Given the description of an element on the screen output the (x, y) to click on. 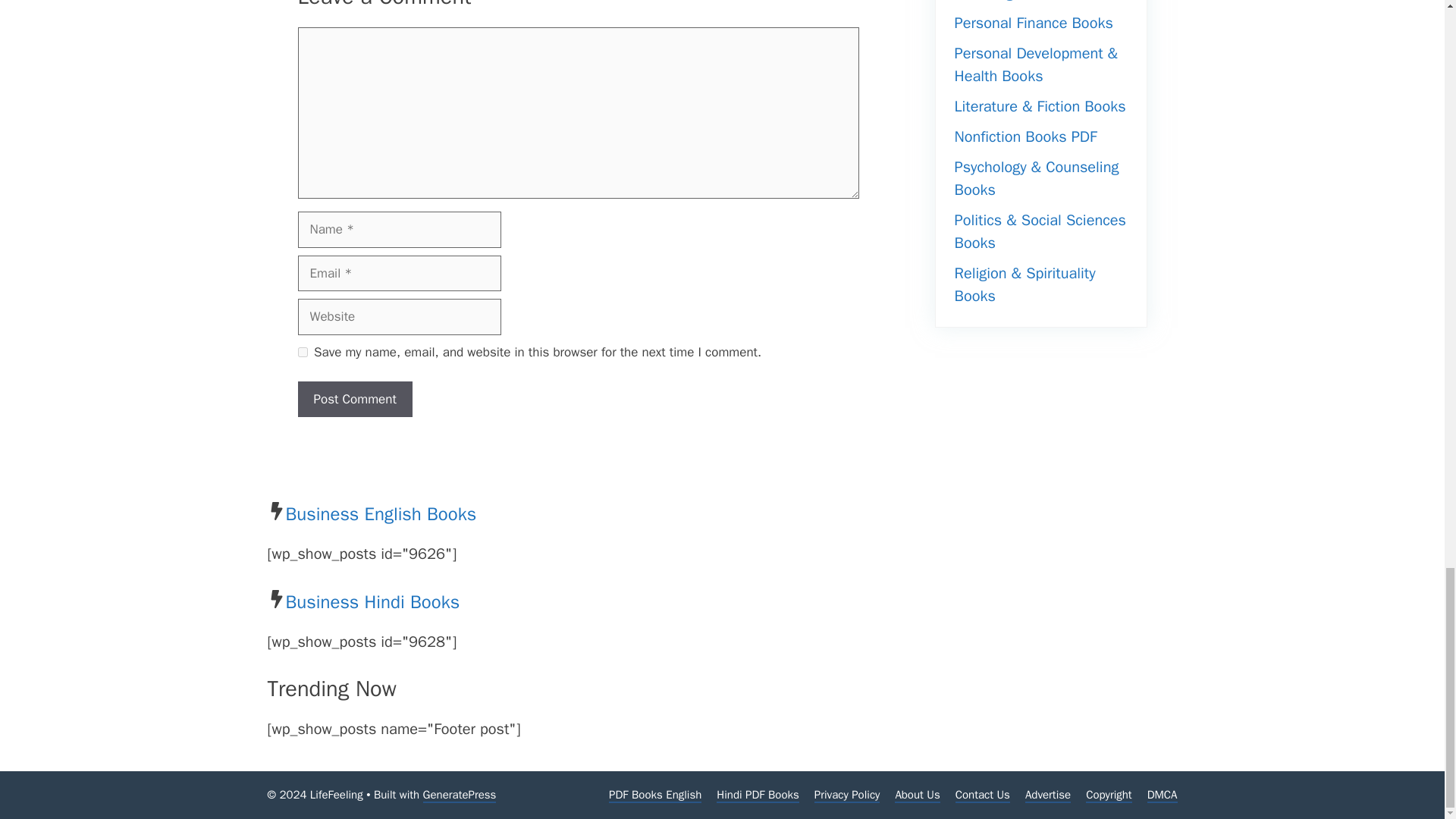
Post Comment (354, 399)
yes (302, 352)
Post Comment (354, 399)
